Given the description of an element on the screen output the (x, y) to click on. 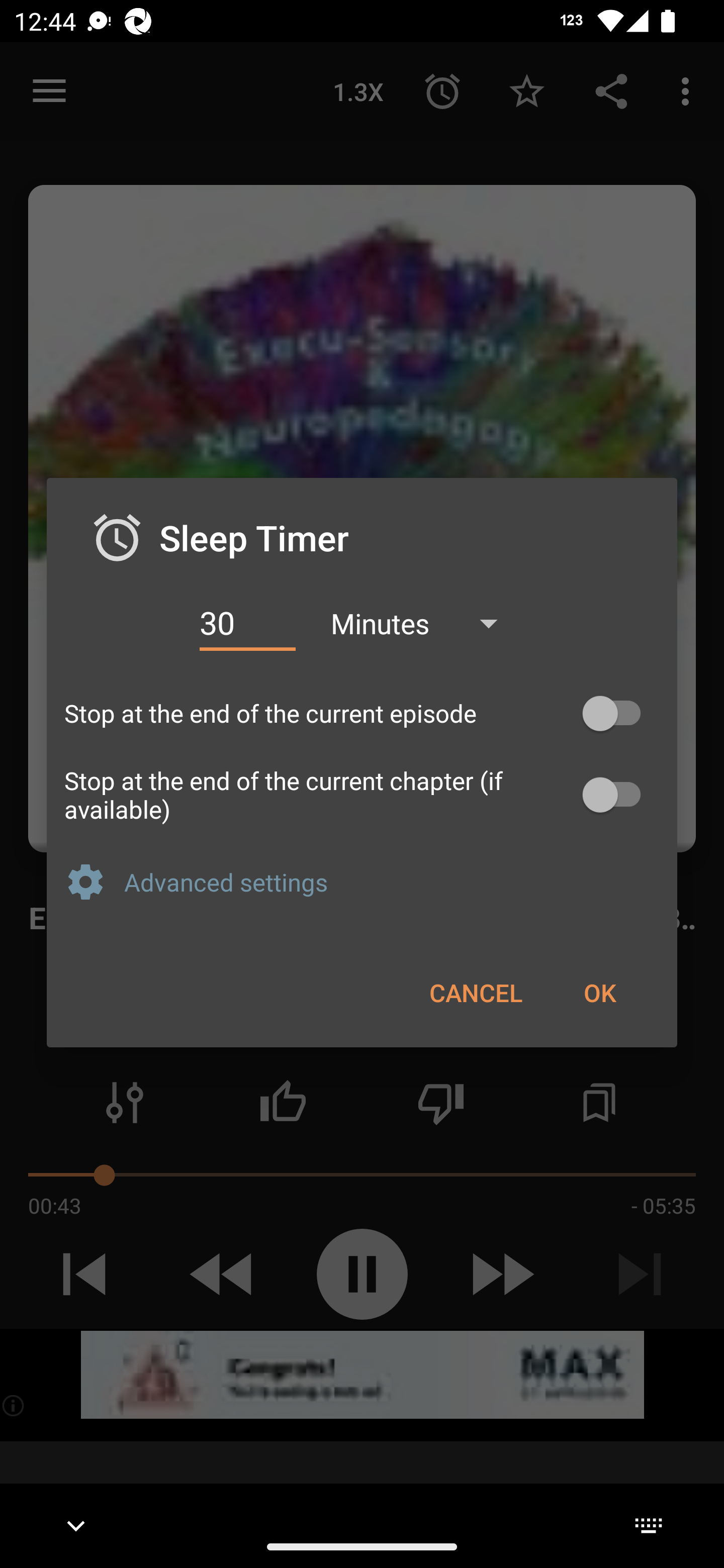
30 (247, 623)
Minutes (423, 623)
Stop at the end of the current episode (361, 712)
Advanced settings (391, 881)
CANCEL (475, 992)
OK (599, 992)
